Given the description of an element on the screen output the (x, y) to click on. 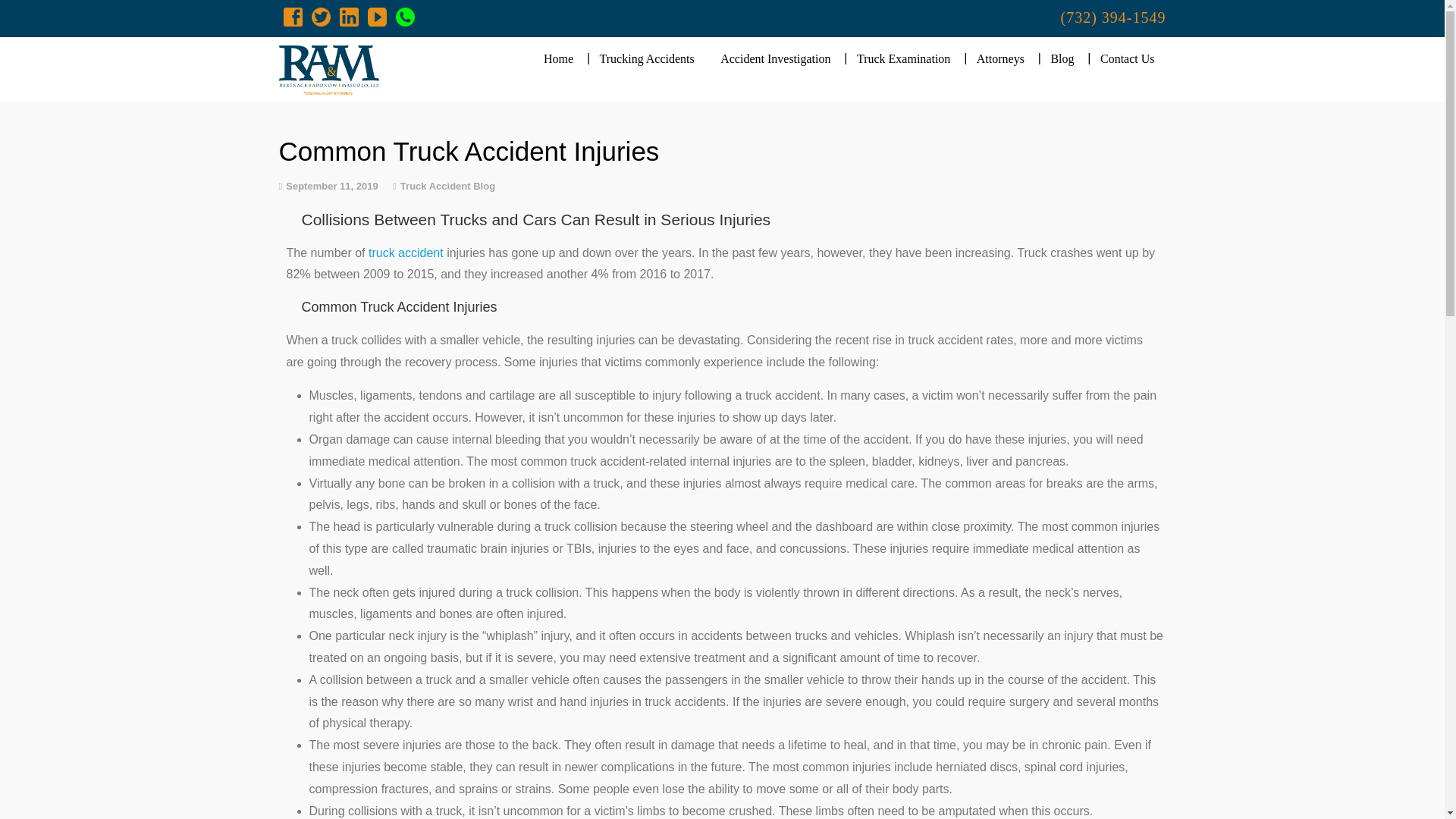
truck accident (406, 252)
Follow Us on Facebook (292, 16)
Blog (1061, 58)
Home (558, 58)
Follow Us on LinkedIn (348, 16)
Contact Us (1127, 58)
Attorneys (1000, 58)
Trucking Accidents (647, 58)
Follow Us on YouTube (375, 16)
Truck Examination (902, 58)
